Given the description of an element on the screen output the (x, y) to click on. 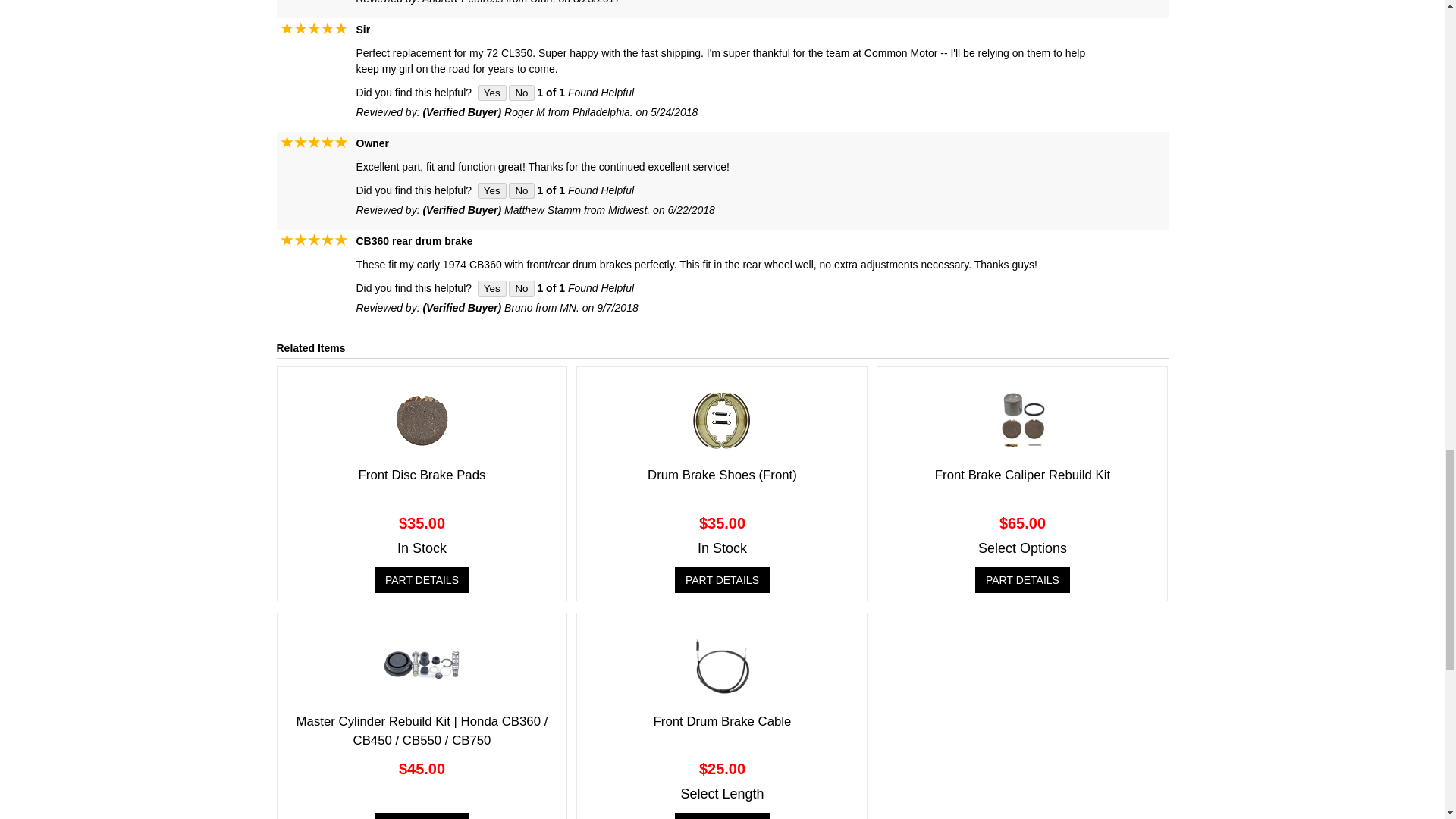
Part Details (1022, 579)
Yes (491, 190)
Part Details (421, 579)
No (521, 190)
No (521, 92)
No (521, 288)
Yes (491, 288)
Part Details (421, 816)
Yes (491, 92)
Part Details (722, 816)
